Given the description of an element on the screen output the (x, y) to click on. 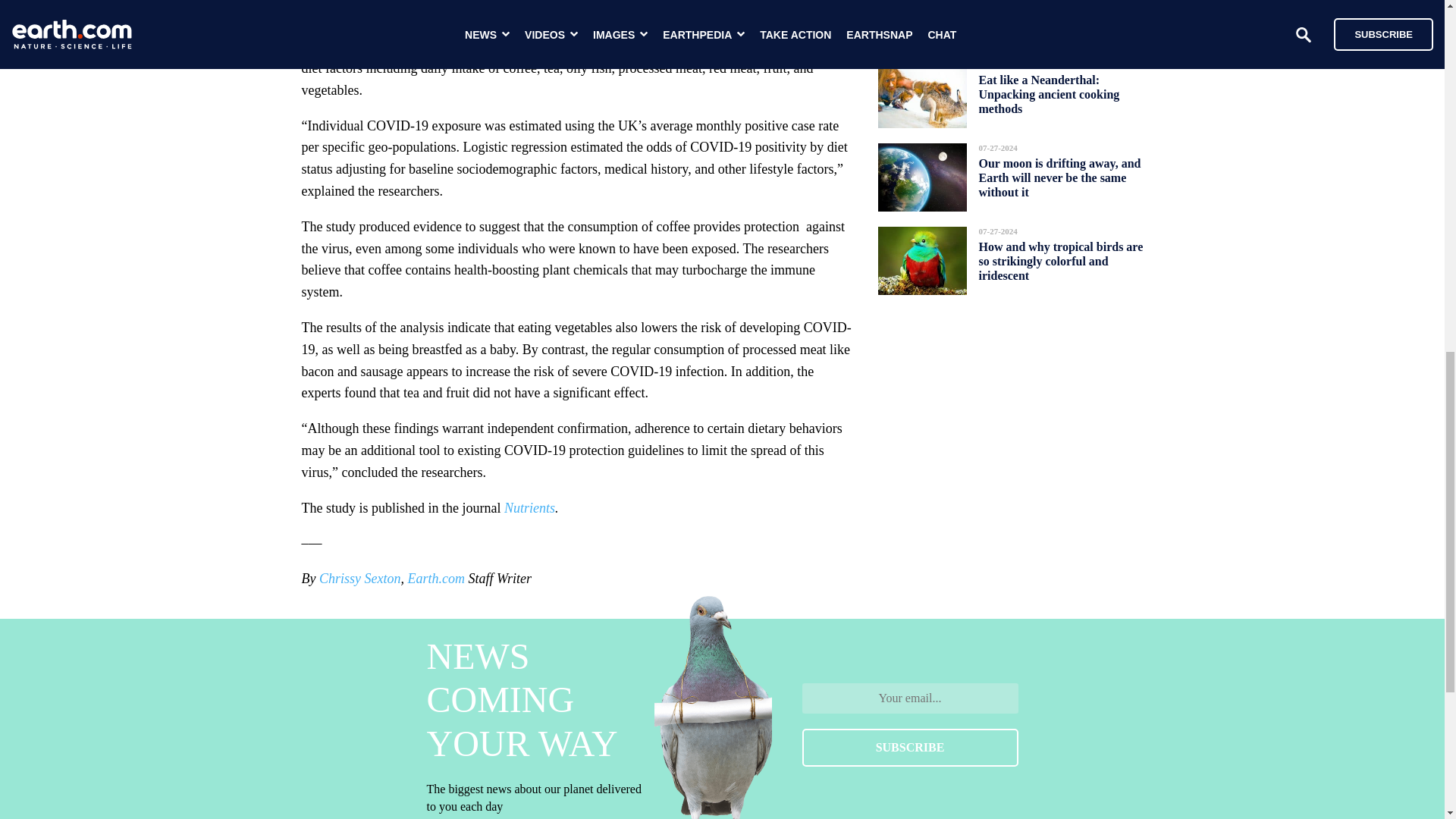
Earth.com (435, 578)
Eat like a Neanderthal: Unpacking ancient cooking methods (1048, 94)
SUBSCRIBE (909, 747)
Nutrients (528, 507)
Chrissy Sexton (359, 578)
